Given the description of an element on the screen output the (x, y) to click on. 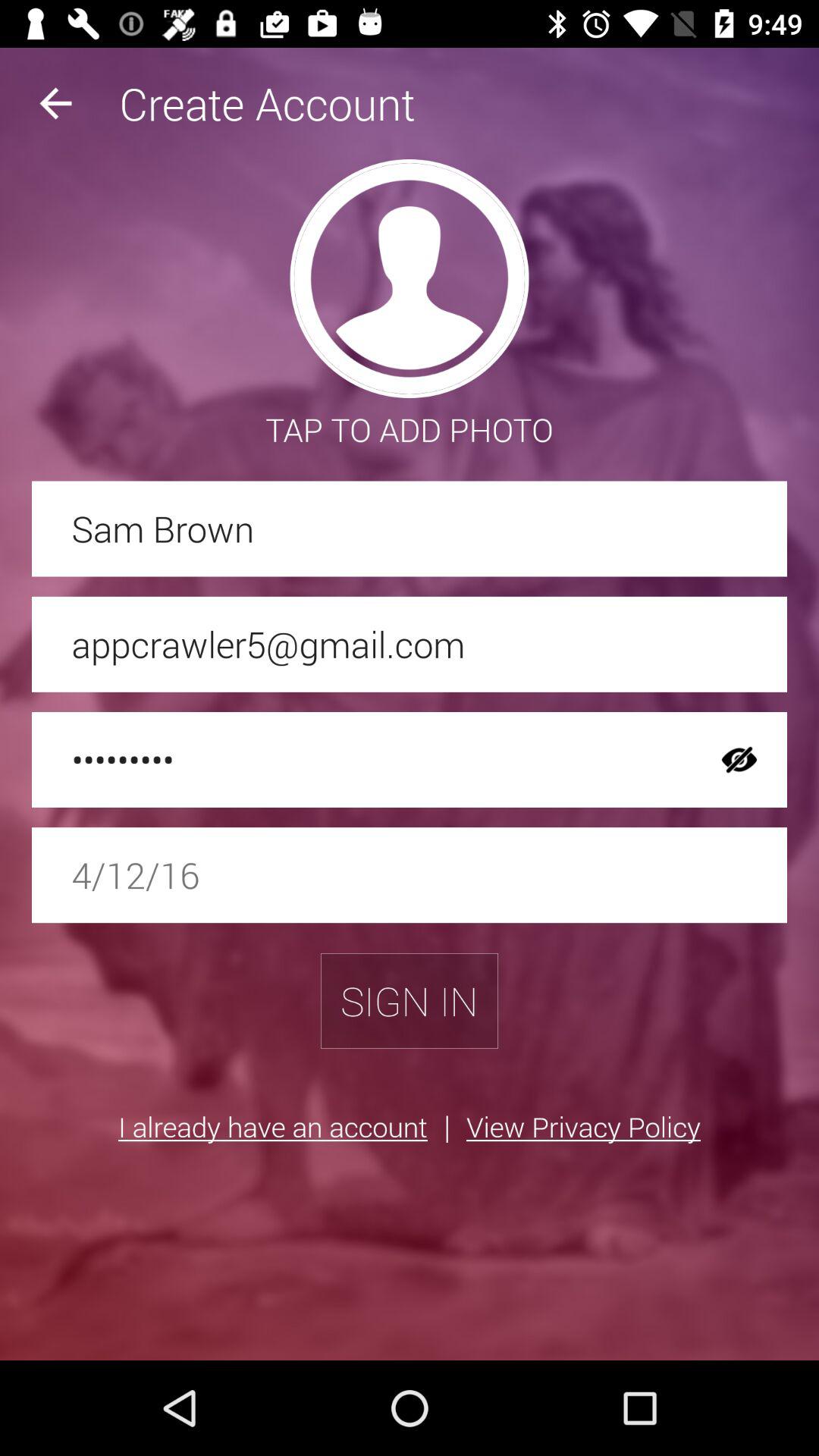
select icon next to the create account item (55, 103)
